Given the description of an element on the screen output the (x, y) to click on. 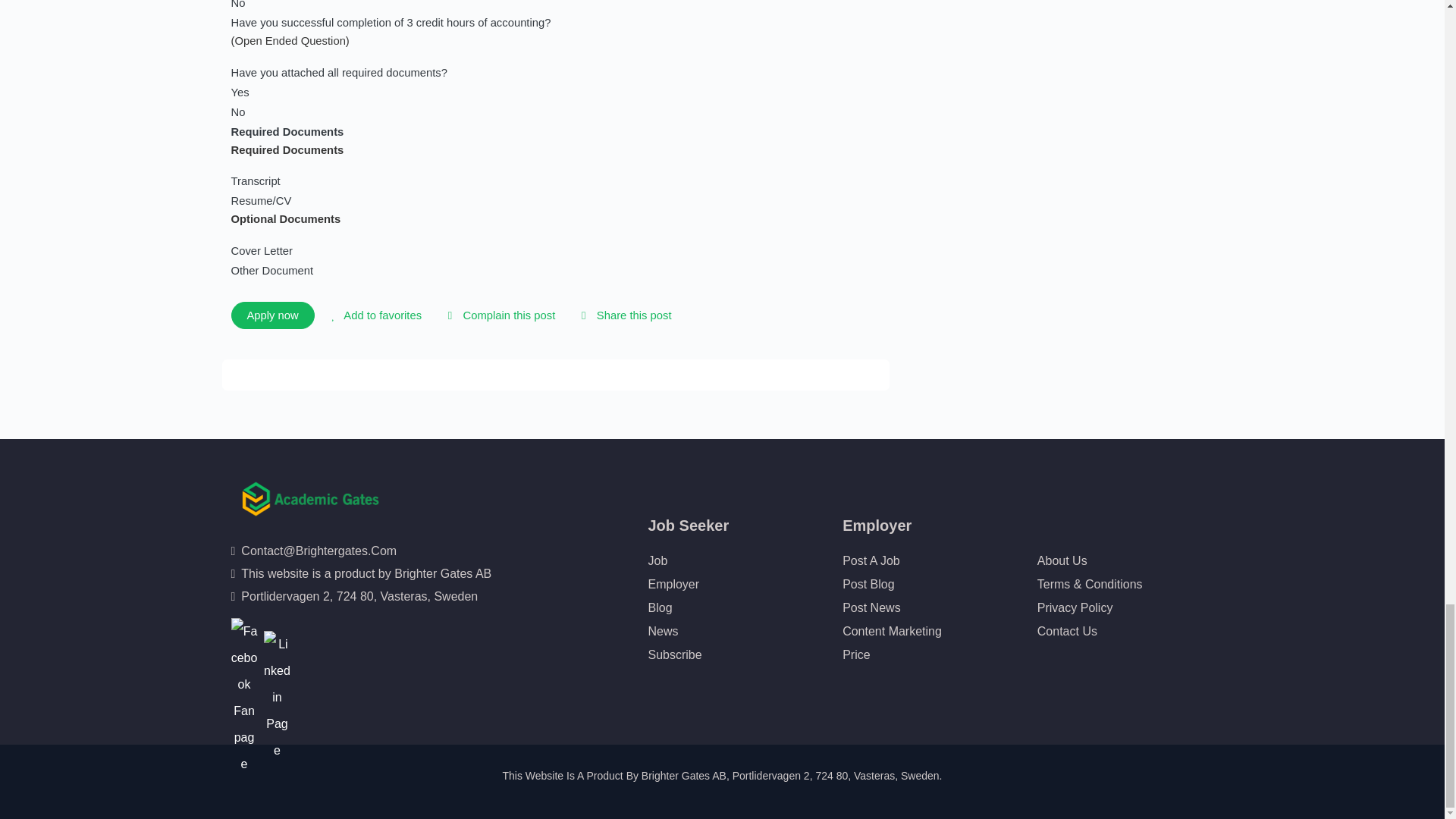
Complain this post (498, 315)
Add to favorites (374, 315)
Apply now (272, 315)
Share this post (623, 315)
